Given the description of an element on the screen output the (x, y) to click on. 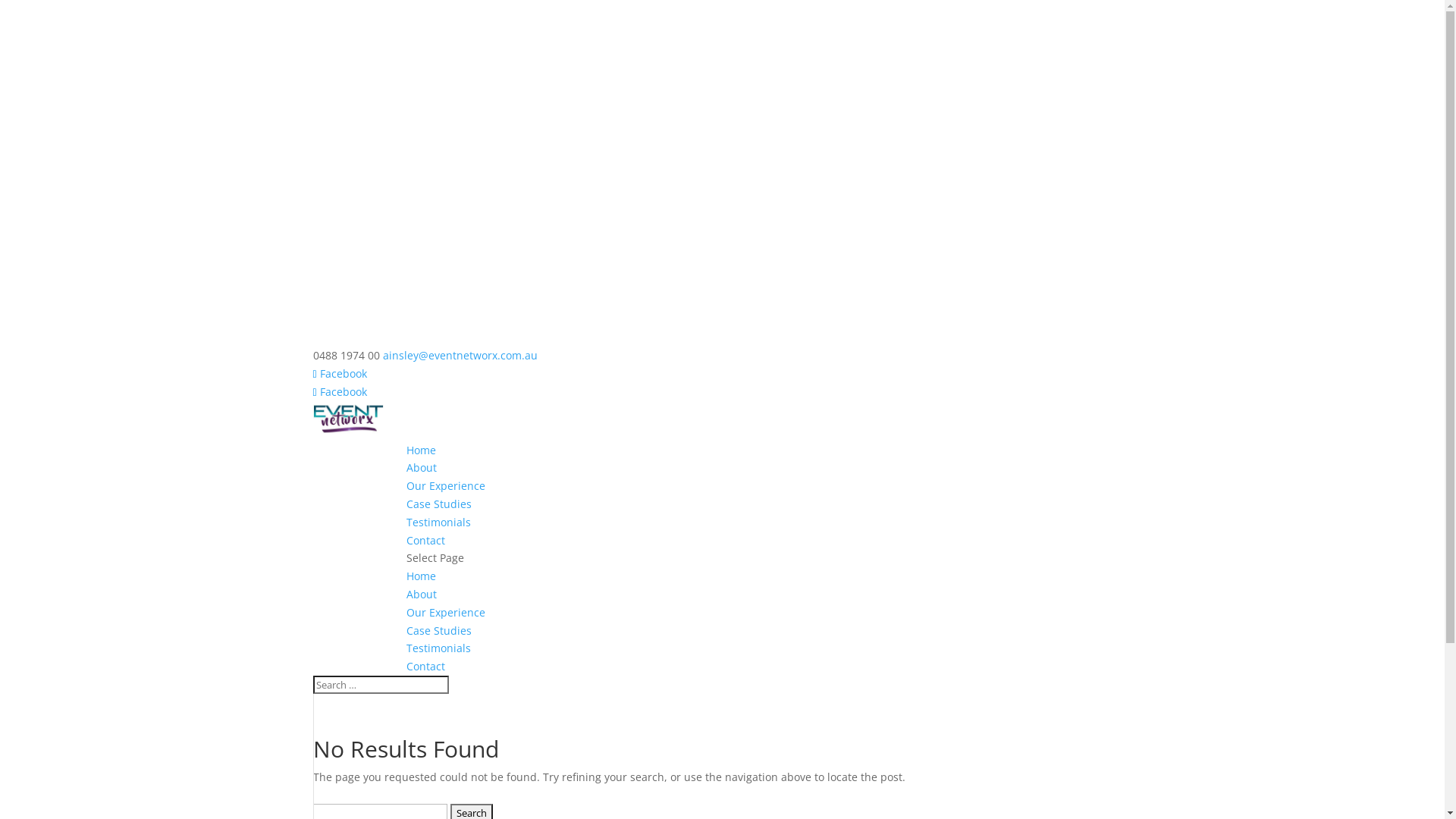
Case Studies Element type: text (438, 503)
Facebook Element type: text (339, 373)
About Element type: text (421, 467)
Home Element type: text (421, 449)
Our Experience Element type: text (445, 485)
Case Studies Element type: text (438, 630)
Home Element type: text (421, 575)
Contact Element type: text (425, 665)
Contact Element type: text (425, 540)
Search for: Element type: hover (380, 684)
About Element type: text (421, 593)
Testimonials Element type: text (438, 521)
Our Experience Element type: text (445, 612)
Testimonials Element type: text (438, 647)
ainsley@eventnetworx.com.au Element type: text (459, 355)
Facebook Element type: text (339, 391)
